Given the description of an element on the screen output the (x, y) to click on. 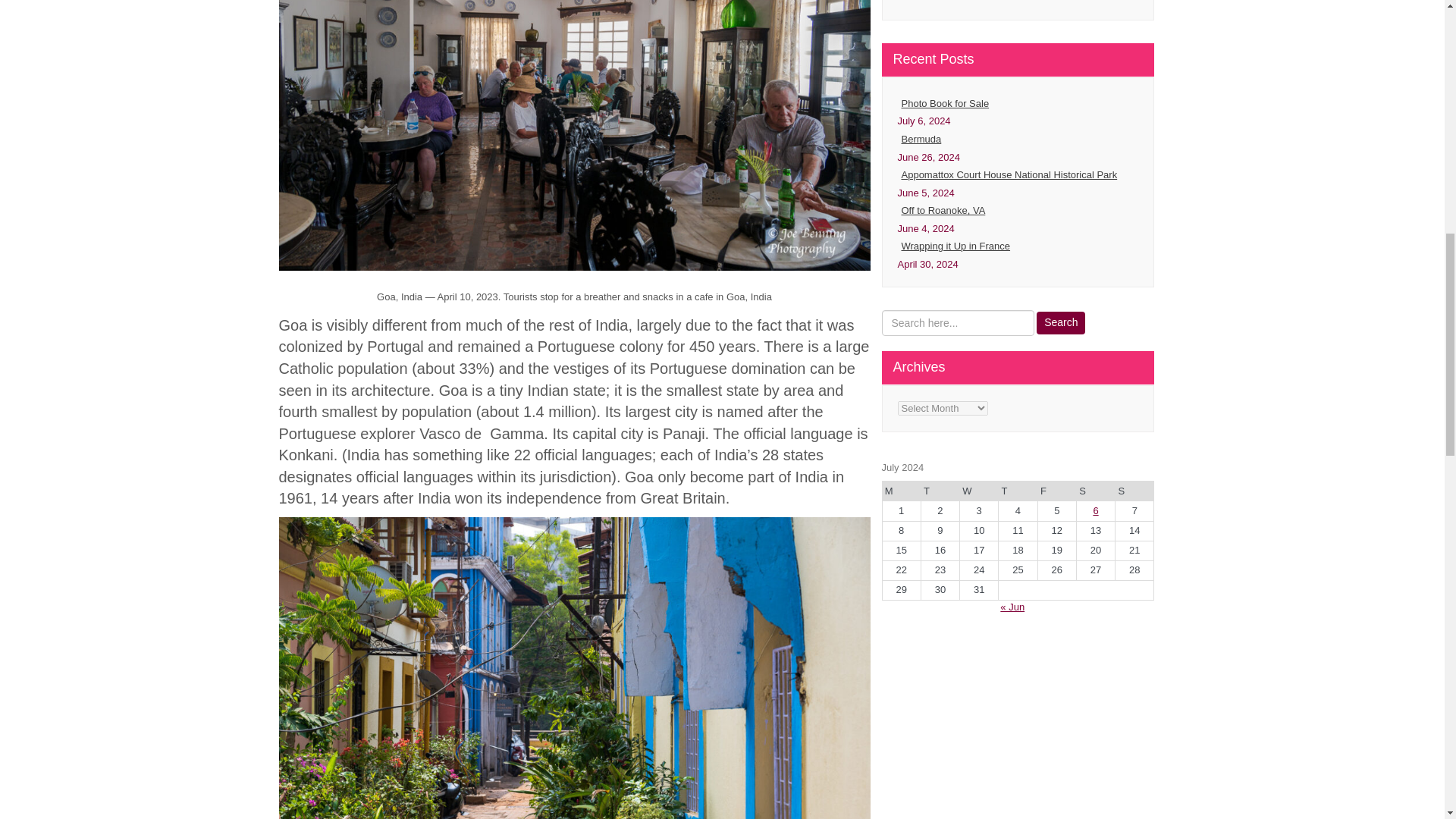
Wednesday (978, 491)
Friday (1055, 491)
Thursday (1017, 491)
Off to Roanoke, VA (1018, 210)
Bermuda (1018, 139)
Appomattox Court House National Historical Park (1018, 175)
Wrapping it Up in France (1018, 246)
WordPress.org (1018, 2)
Tuesday (939, 491)
Sunday (1134, 491)
Monday (901, 491)
Search (1060, 323)
Search (1060, 323)
Photo Book for Sale (1018, 104)
Saturday (1095, 491)
